Given the description of an element on the screen output the (x, y) to click on. 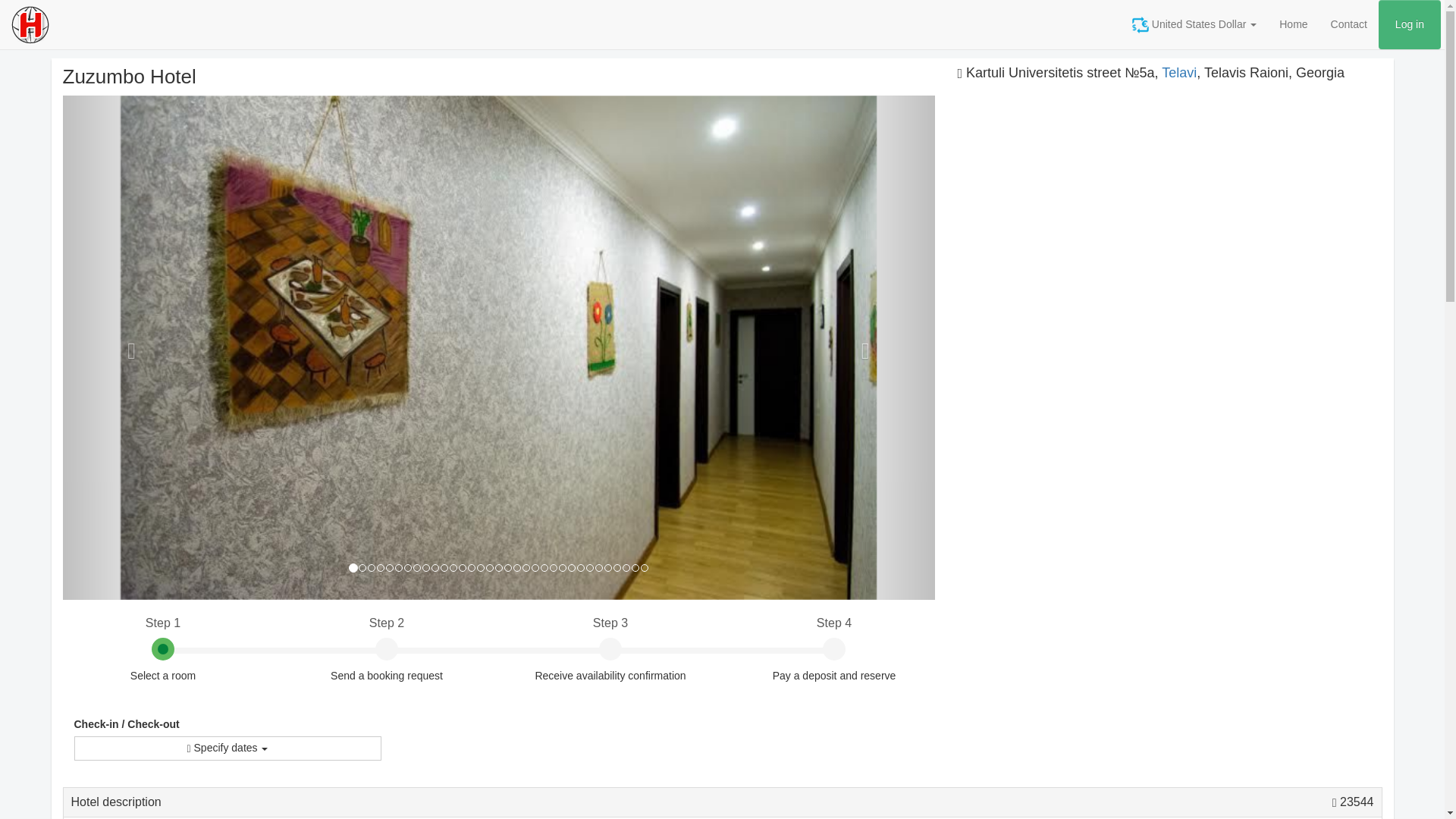
View (1353, 801)
United States Dollar (1194, 24)
Log in (1409, 24)
Home (1293, 24)
Contact (1348, 24)
Telavi (1178, 72)
